Given the description of an element on the screen output the (x, y) to click on. 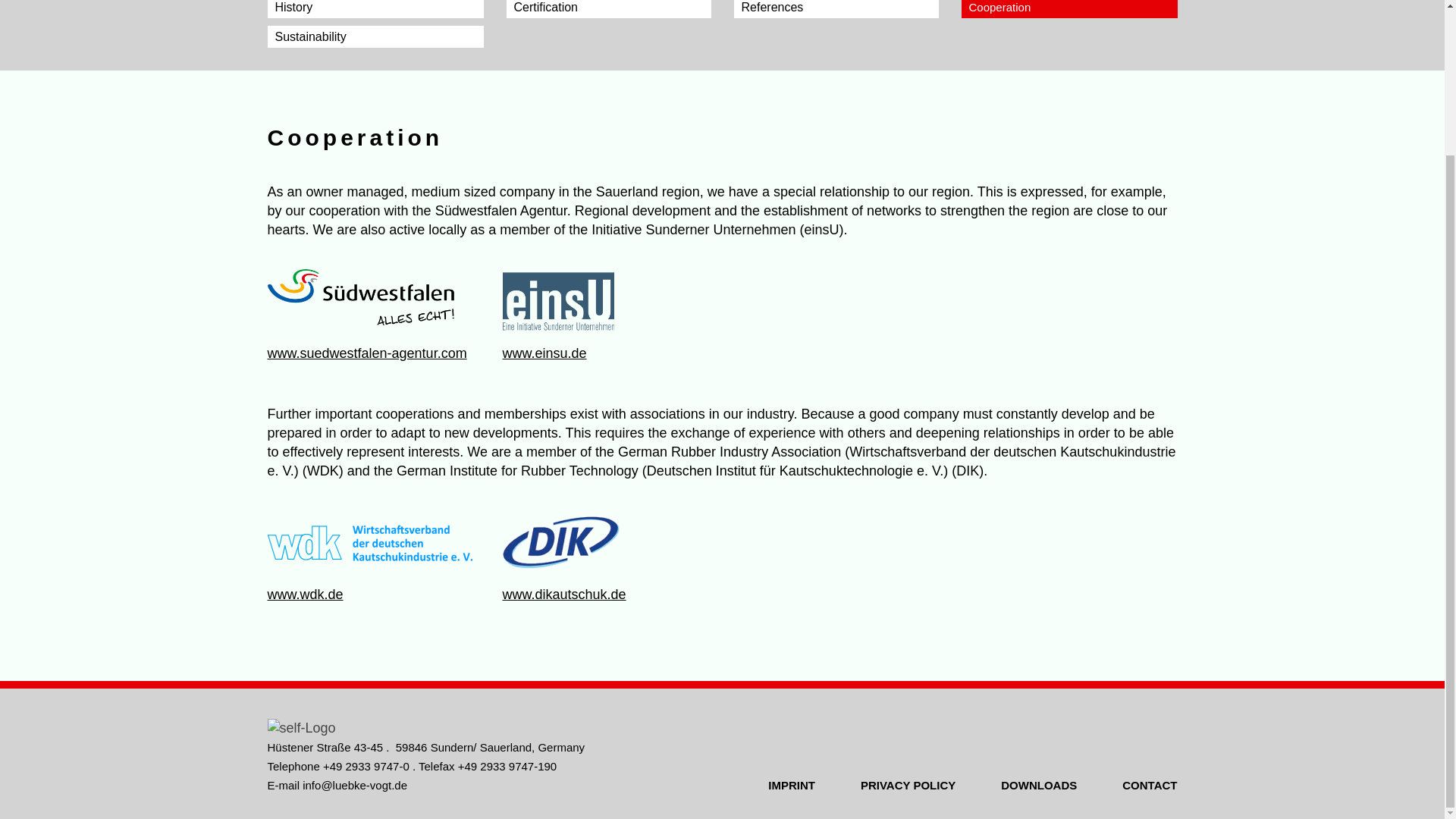
Cooperation (1068, 9)
CONTACT (1149, 784)
South Westphalia (368, 298)
www.einsu.de (544, 353)
History (374, 9)
References (836, 9)
einsU (604, 298)
nflbk-vgtd (354, 784)
PRIVACY POLICY (907, 784)
www.suedwestfalen-agentur.com (365, 353)
